Given the description of an element on the screen output the (x, y) to click on. 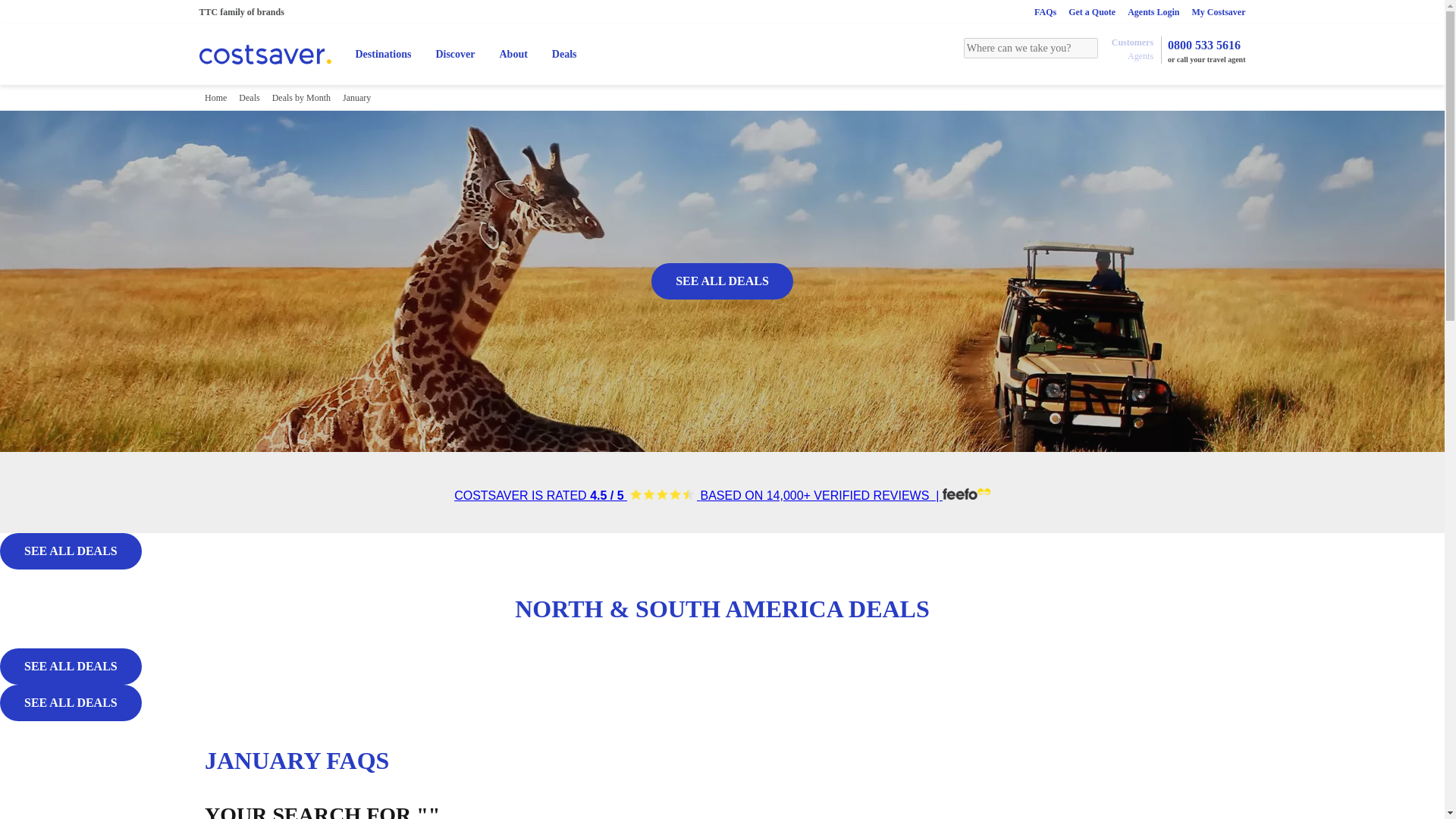
Deals by Month (301, 97)
Get a Quote (1091, 11)
SEE ALL DEALS (721, 280)
Home (216, 97)
Agents Login (1152, 11)
SEE ALL DEALS (70, 551)
SEE ALL DEALS (70, 702)
Agents (1139, 55)
Deals by Month (301, 97)
FAQs (1045, 11)
Home (216, 97)
Customers (1131, 42)
SEE ALL DEALS (70, 551)
Agents Login (1152, 11)
Deals (248, 97)
